Given the description of an element on the screen output the (x, y) to click on. 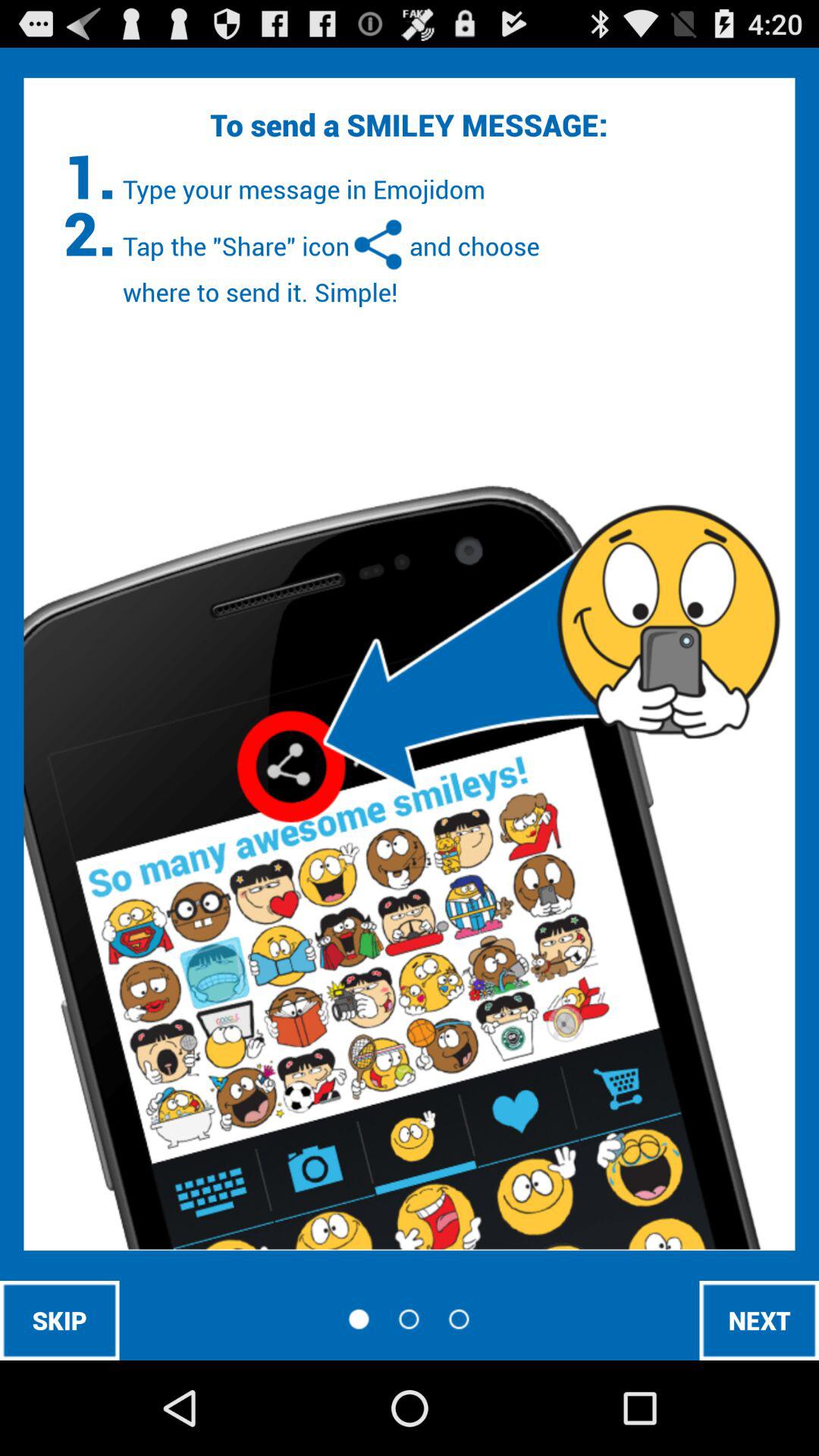
jump to next icon (759, 1320)
